Given the description of an element on the screen output the (x, y) to click on. 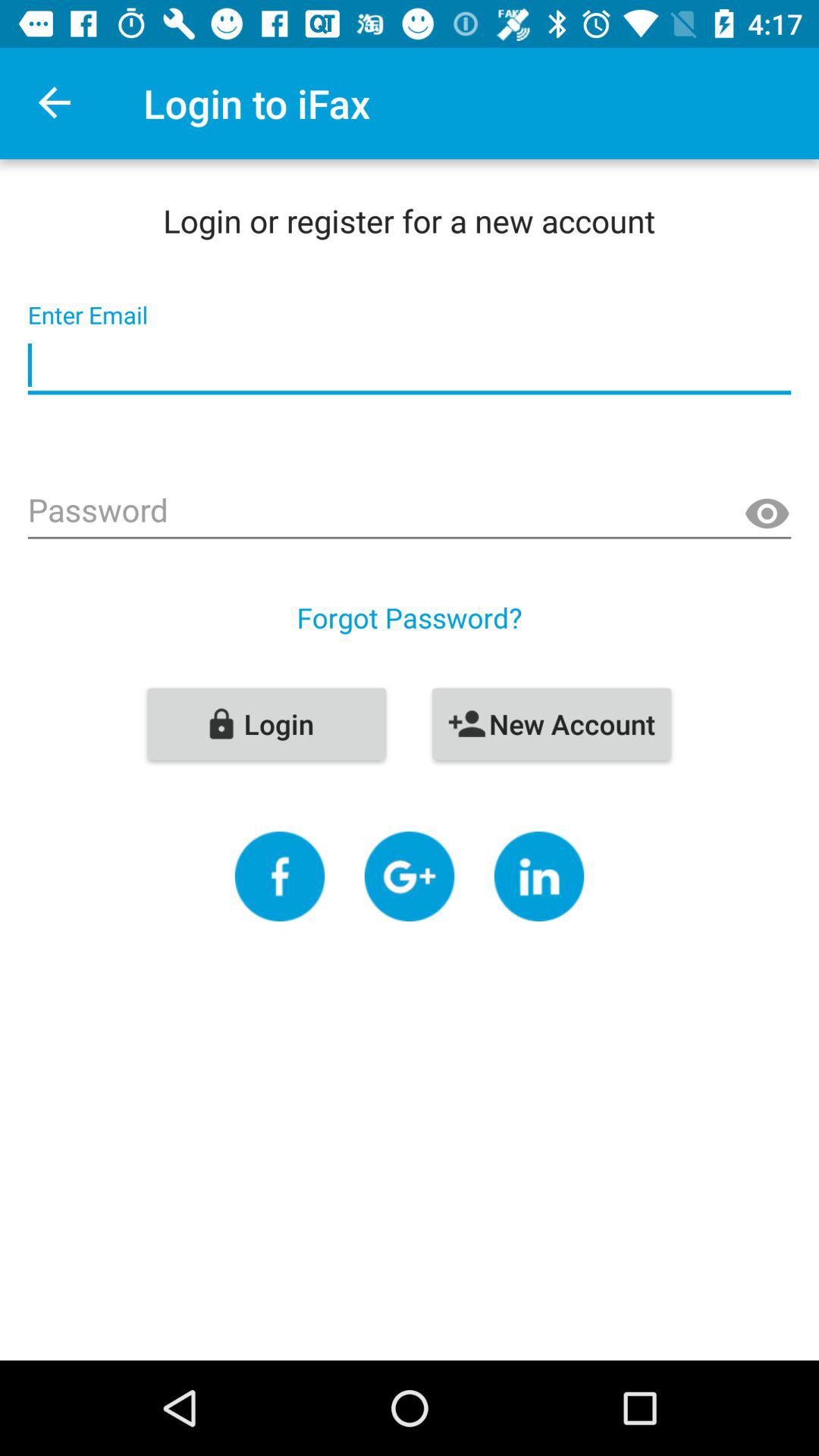
enter password (409, 511)
